Given the description of an element on the screen output the (x, y) to click on. 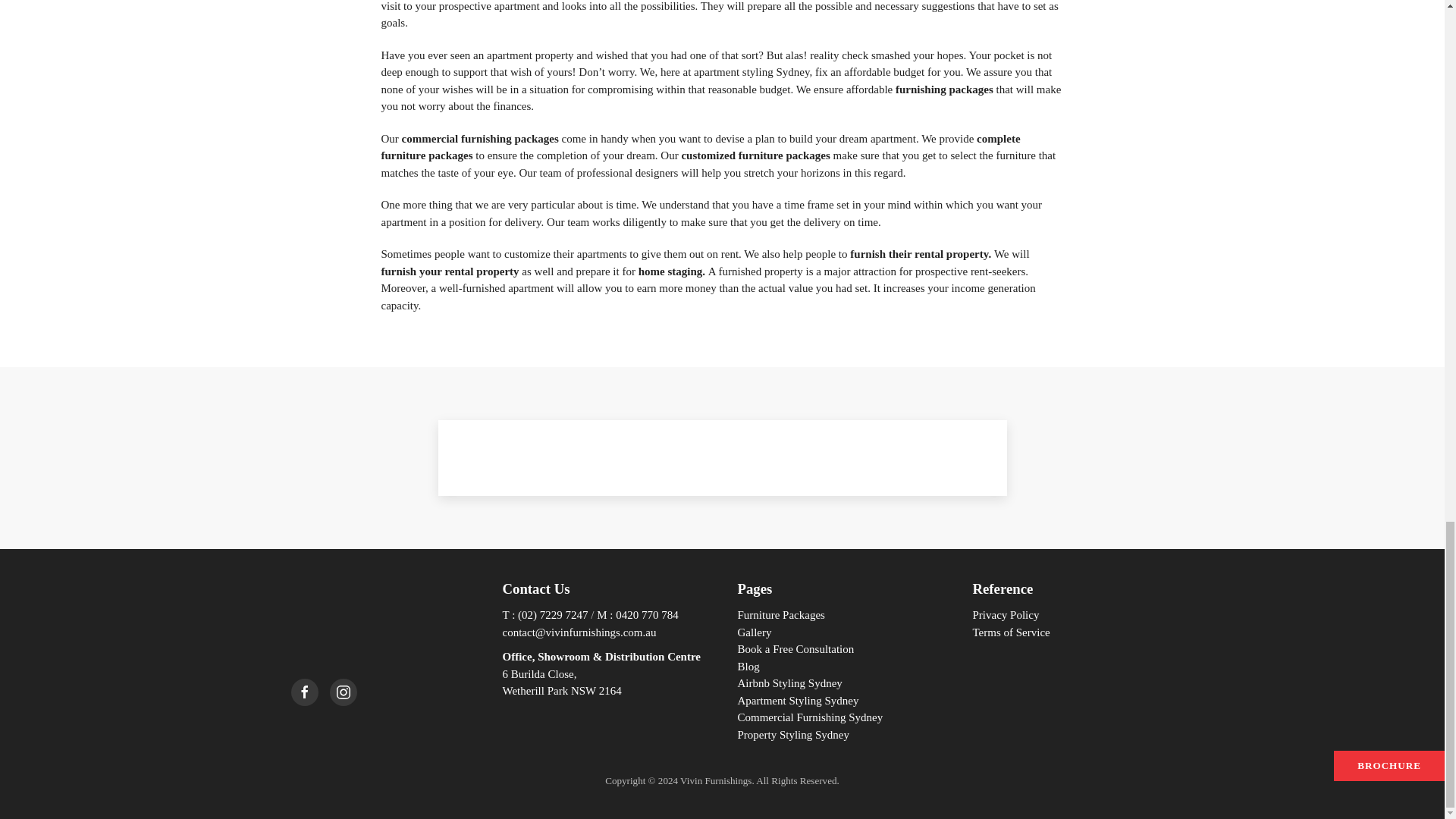
Terms of Service (1010, 632)
Blog (747, 666)
Airbnb Styling Sydney (788, 683)
Privacy Policy (1005, 614)
M : 0420 770 784 (637, 614)
Commercial Furnishing Sydney (809, 717)
Contact Us (535, 588)
Property Styling Sydney (792, 734)
Gallery (753, 632)
Book a Free Consultation (794, 648)
